Given the description of an element on the screen output the (x, y) to click on. 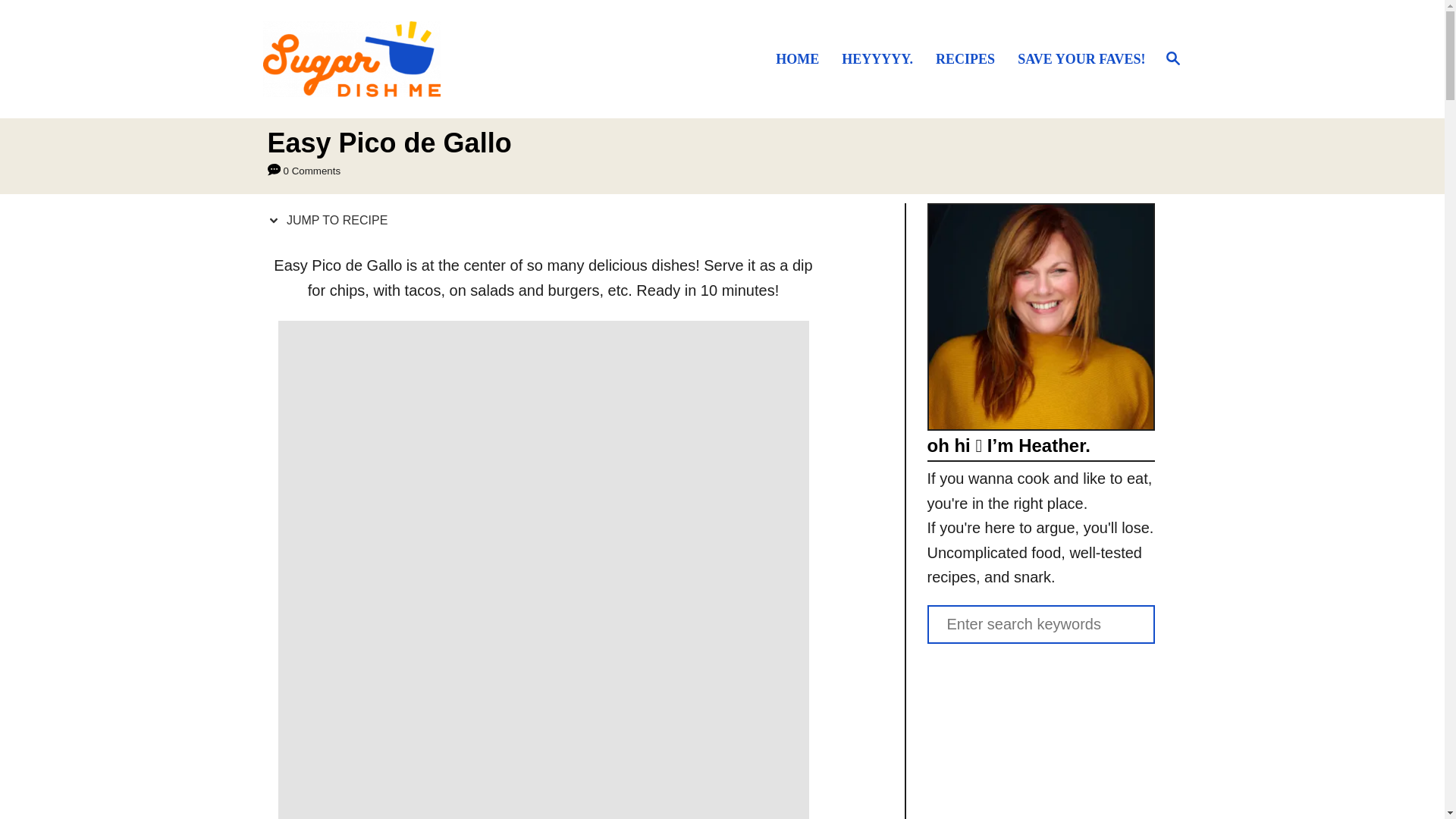
Search for: (1040, 624)
Sugar Dish Me (371, 59)
HOME (804, 58)
JUMP TO RECIPE (330, 220)
Search (62, 22)
RECIPES (972, 58)
SAVE YOUR FAVES! (1078, 58)
HEYYYYY. (884, 58)
Magnifying Glass (1171, 58)
